Given the description of an element on the screen output the (x, y) to click on. 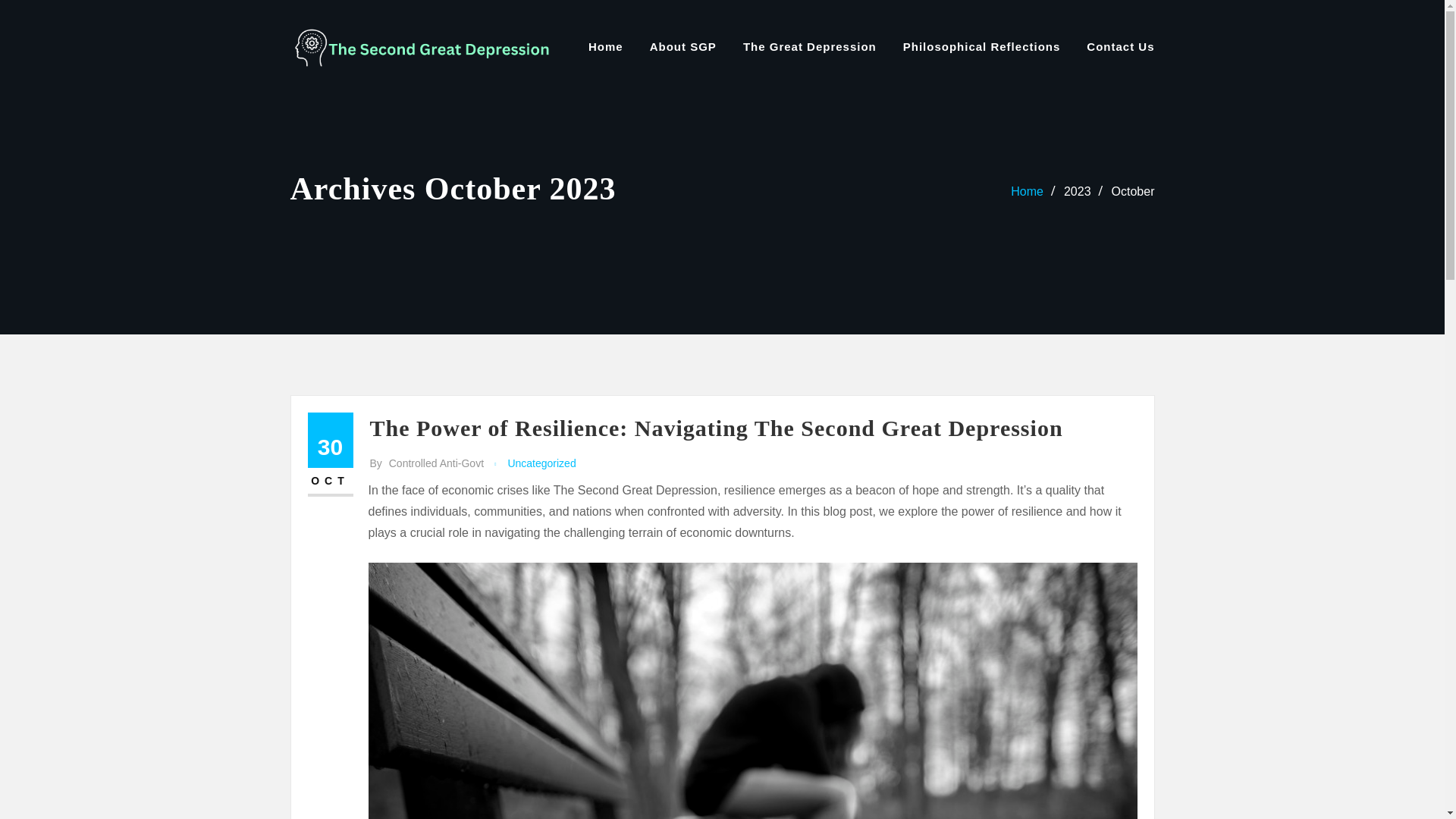
Home (605, 46)
About SGP (682, 46)
Uncategorized (540, 463)
Home (1026, 191)
The Great Depression (809, 46)
October (1133, 191)
By Controlled Anti-Govt (426, 463)
Philosophical Reflections (981, 46)
2023 (1077, 191)
